Given the description of an element on the screen output the (x, y) to click on. 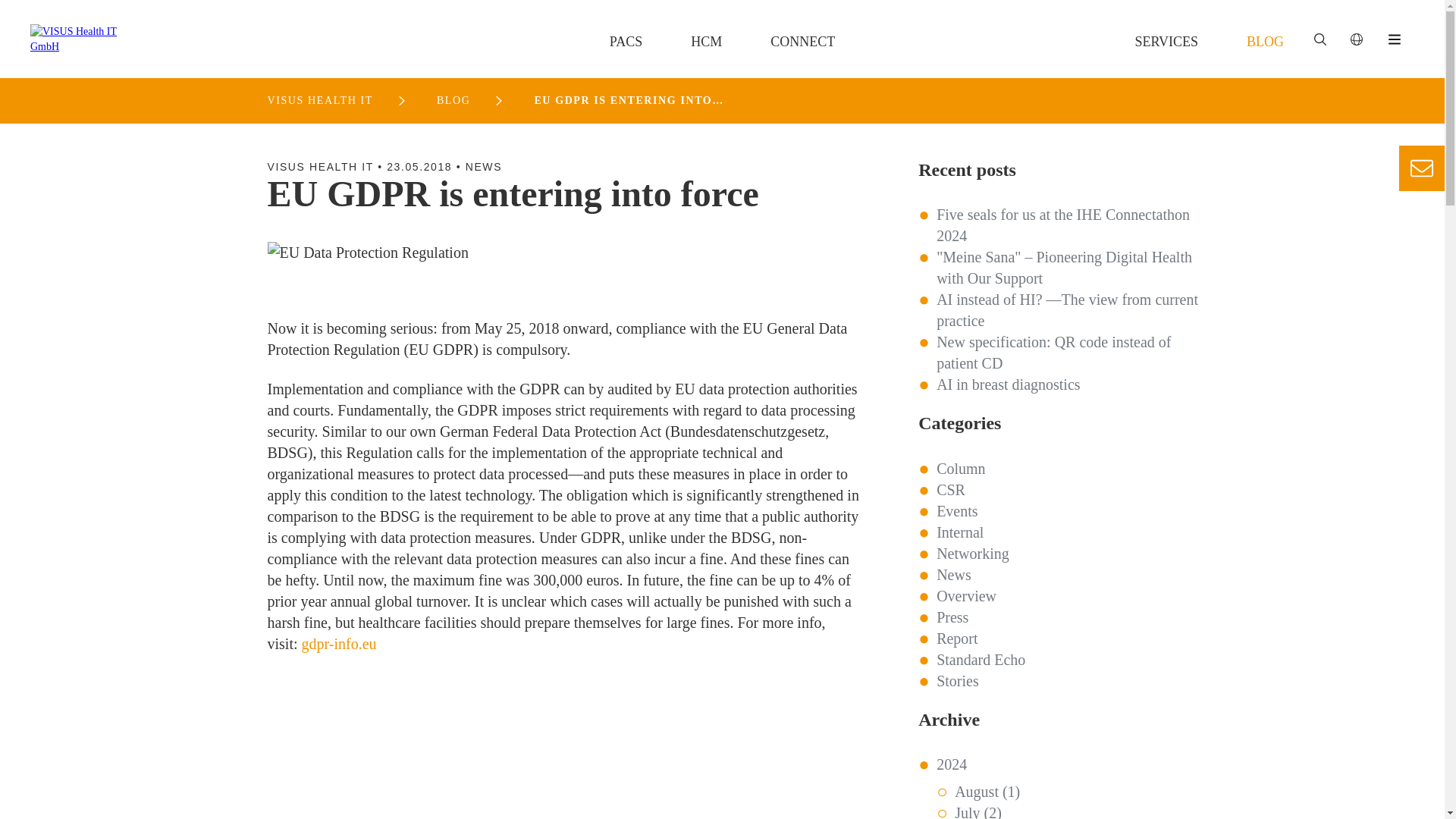
Services (1166, 41)
Connect (802, 41)
CONNECT (802, 41)
VISUS Health IT GmbH (84, 39)
PACS (626, 41)
HCM (706, 41)
Blog (1265, 41)
HCM (706, 41)
SERVICES (1166, 41)
BLOG (1265, 41)
